Given the description of an element on the screen output the (x, y) to click on. 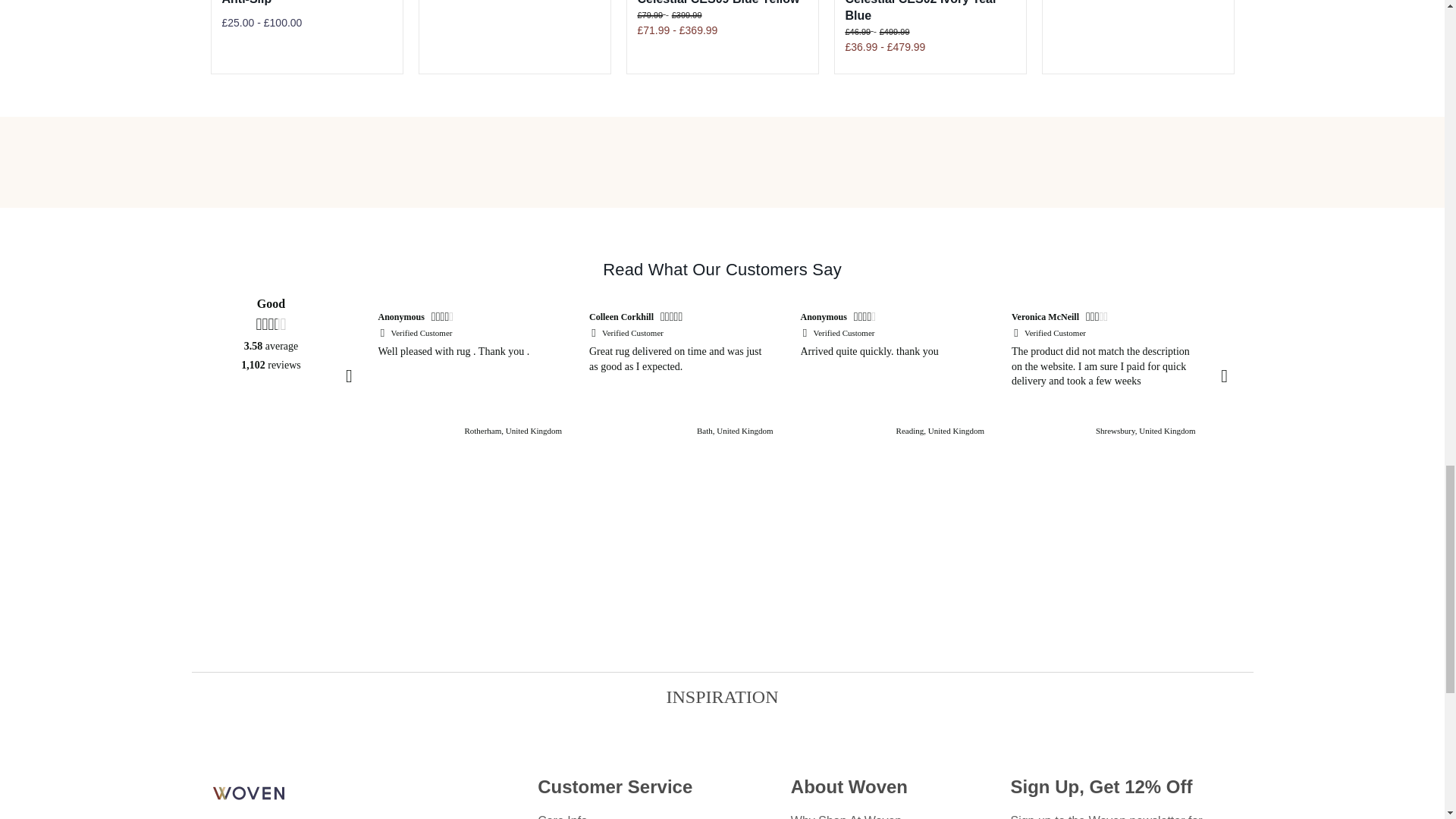
5 Stars (673, 318)
4 Stars (866, 318)
Read more reviews on REVIEWS.io (271, 421)
3.58 Stars (270, 324)
4 Stars (443, 318)
5 Stars (1288, 318)
3 Stars (1099, 318)
